Given the description of an element on the screen output the (x, y) to click on. 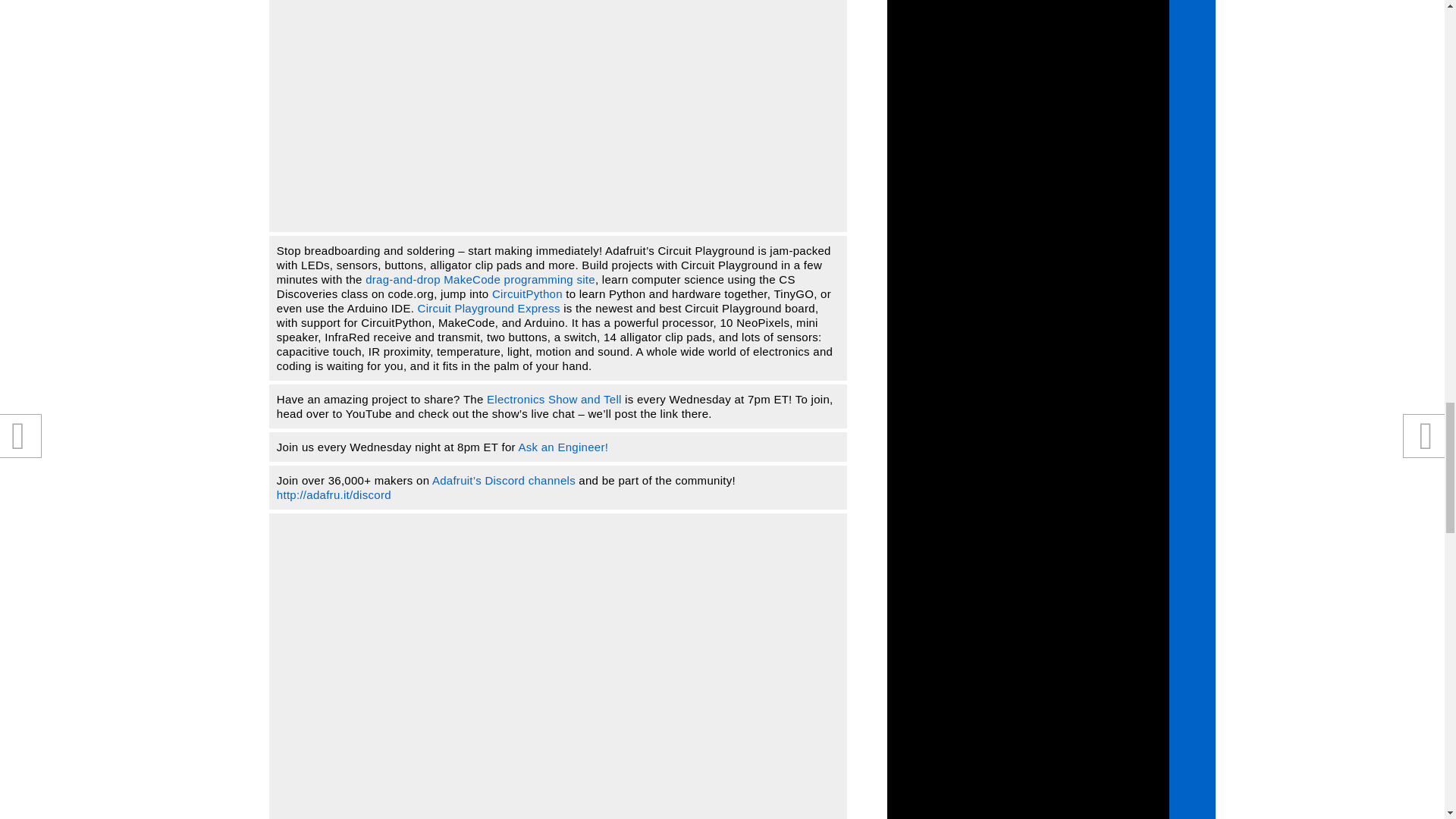
ASK AN ENGINEER (563, 446)
